Given the description of an element on the screen output the (x, y) to click on. 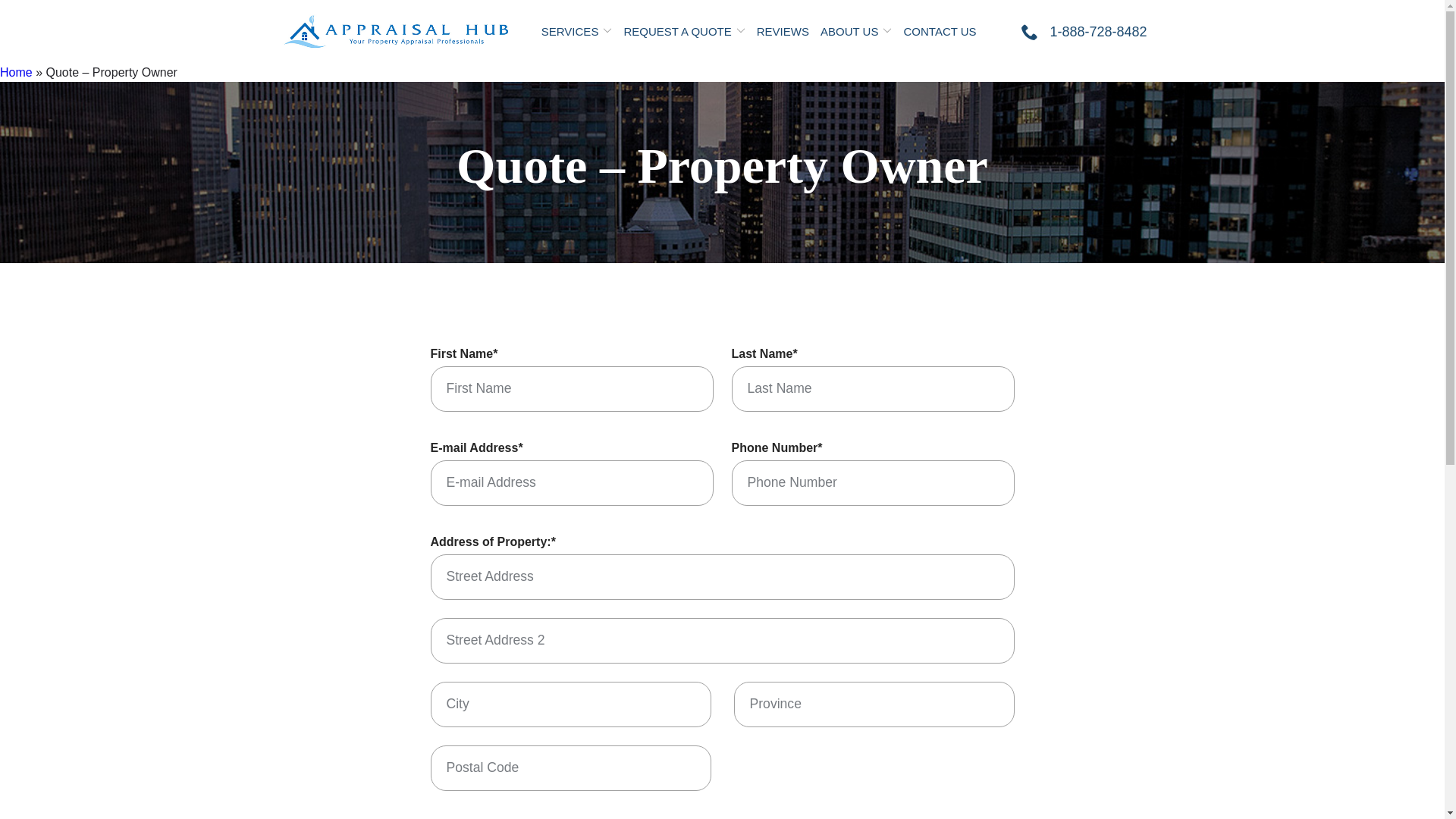
Home Element type: text (16, 71)
1-888-728-8482 Element type: text (1083, 31)
CONTACT US Element type: text (939, 31)
Skip to Content Element type: text (0, 0)
REQUEST A QUOTE Element type: text (683, 31)
REVIEWS Element type: text (782, 31)
SERVICES Element type: text (576, 31)
ABOUT US Element type: text (855, 31)
